Given the description of an element on the screen output the (x, y) to click on. 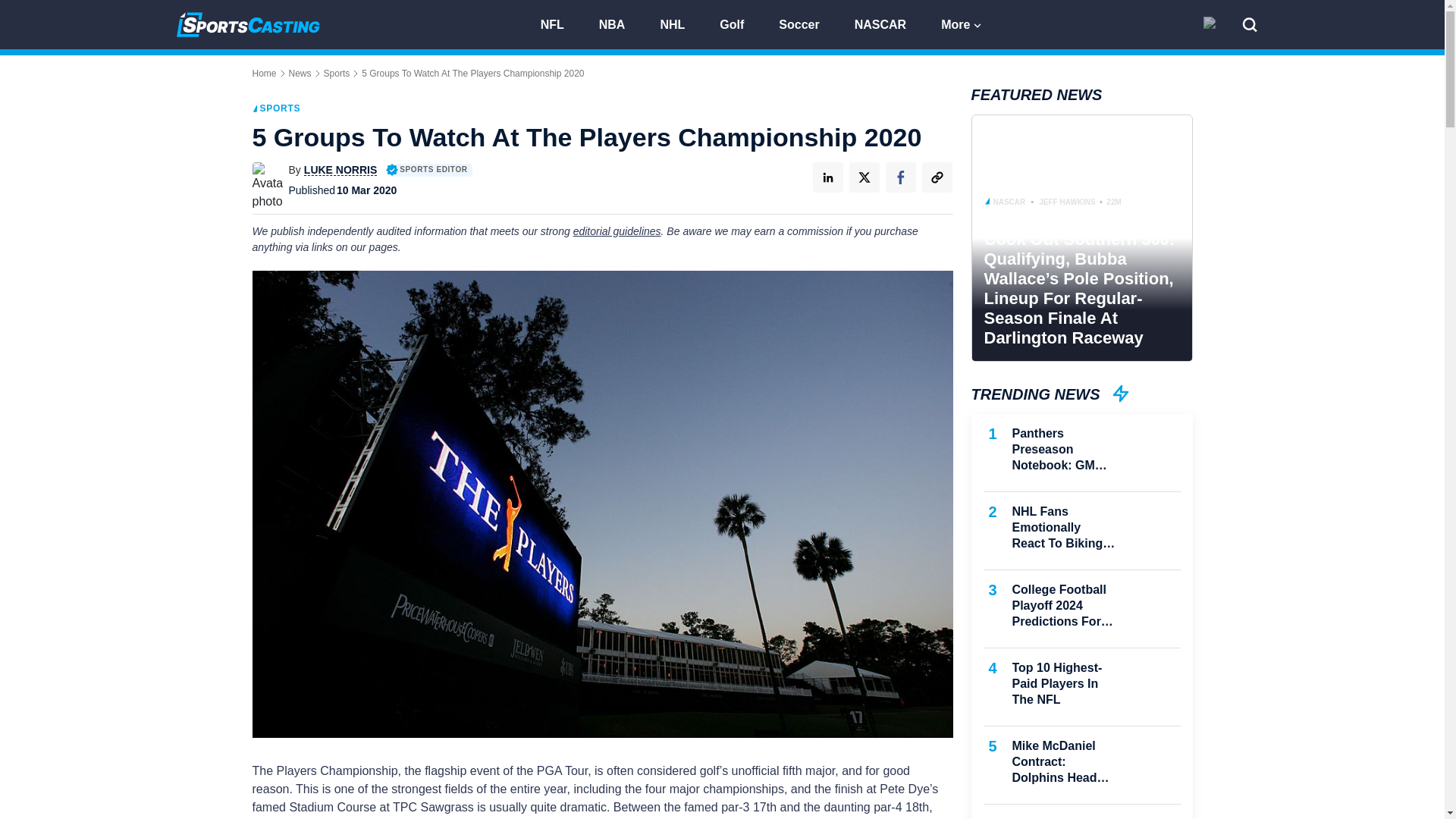
NBA (618, 22)
NHL (679, 22)
Home (263, 72)
Sports (336, 72)
NFL (558, 22)
News (299, 72)
NASCAR (887, 22)
Soccer (805, 22)
Golf (738, 22)
